Given the description of an element on the screen output the (x, y) to click on. 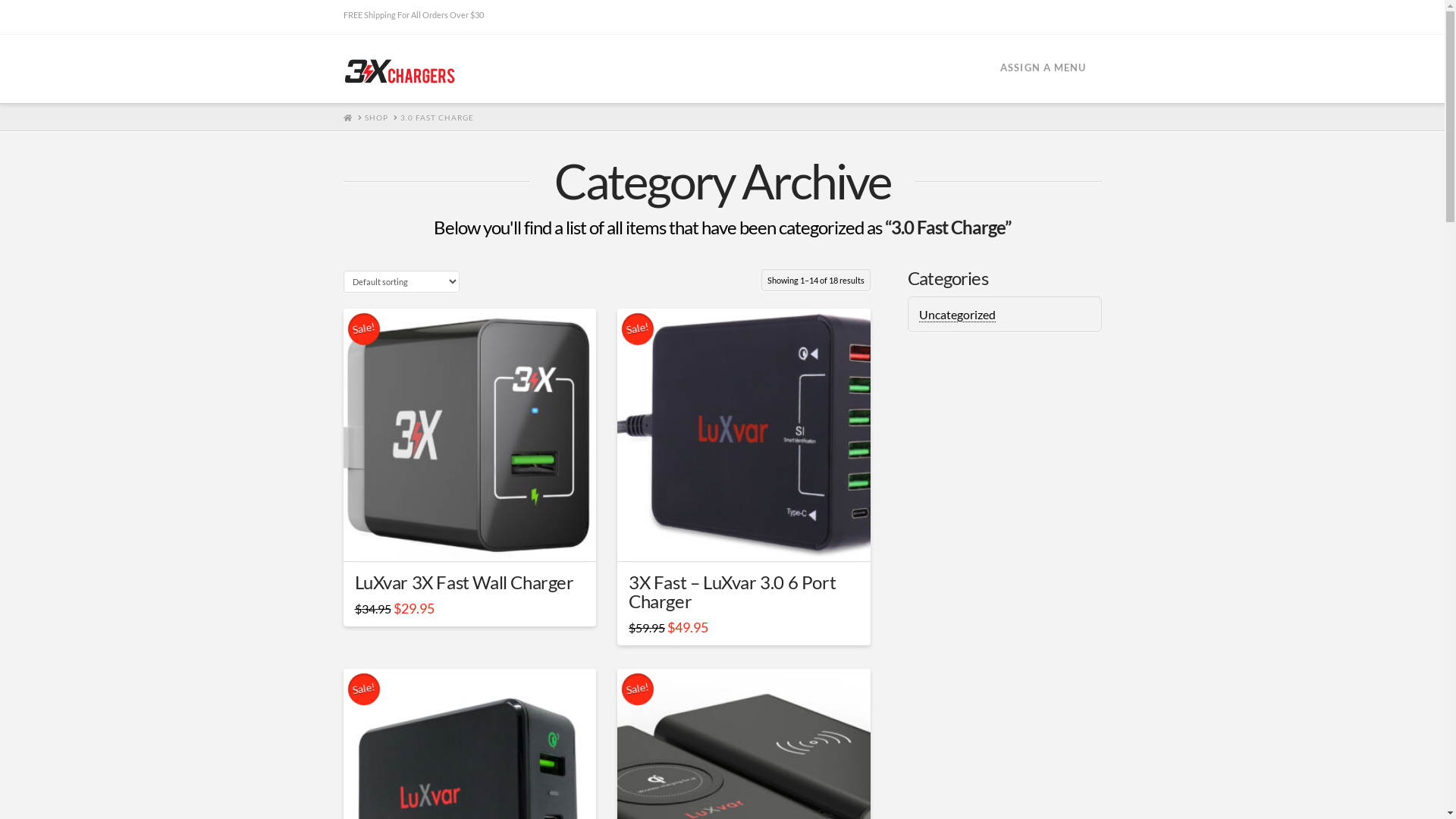
LuXvar 3X Fast Wall Charger Element type: text (464, 582)
ASSIGN A MENU Element type: text (1043, 68)
HOME Element type: text (346, 117)
SHOP Element type: text (375, 117)
3.0 FAST CHARGE Element type: text (436, 117)
Uncategorized Element type: text (957, 314)
